Given the description of an element on the screen output the (x, y) to click on. 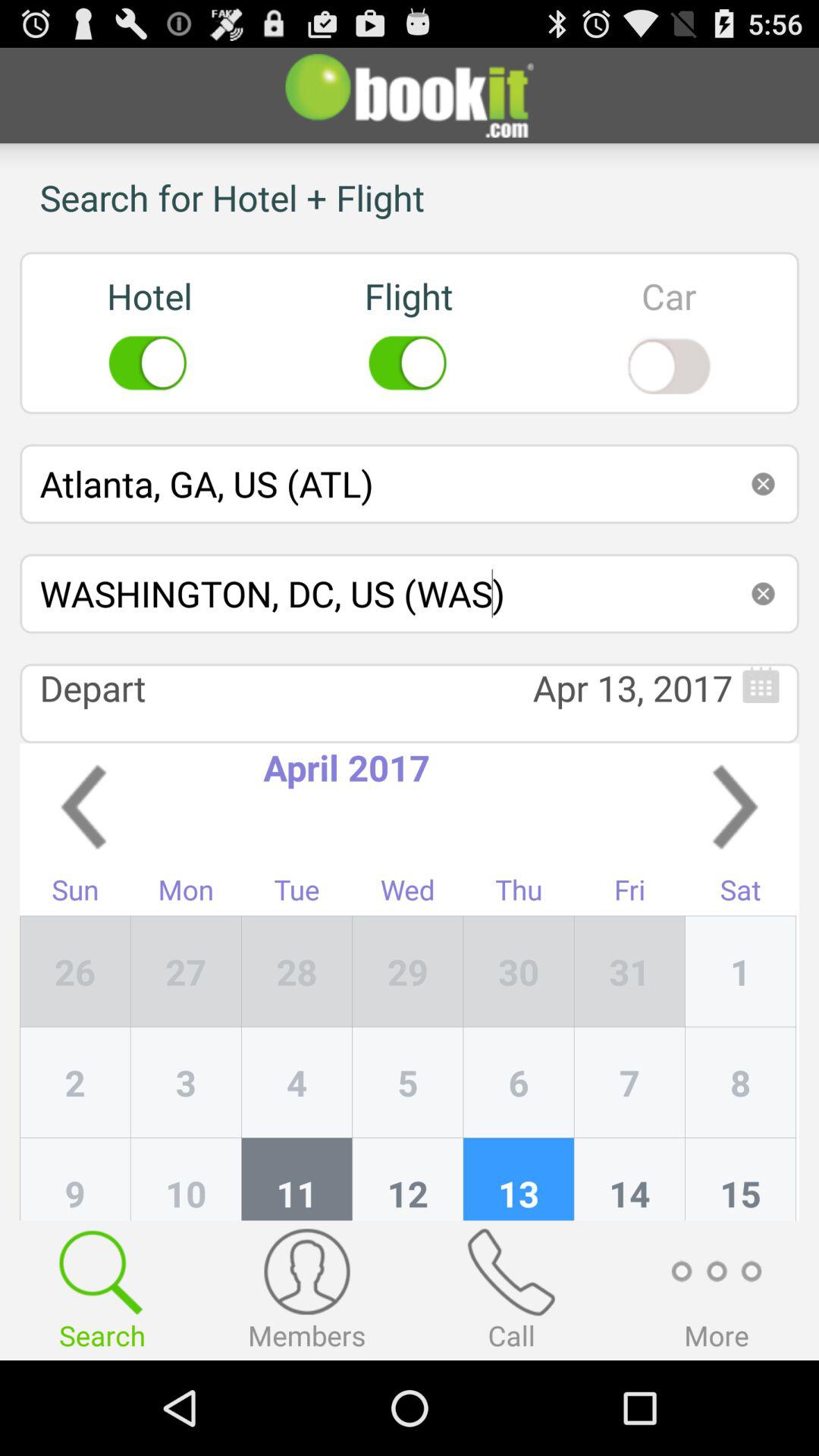
jump to the washington dc us icon (409, 593)
